Given the description of an element on the screen output the (x, y) to click on. 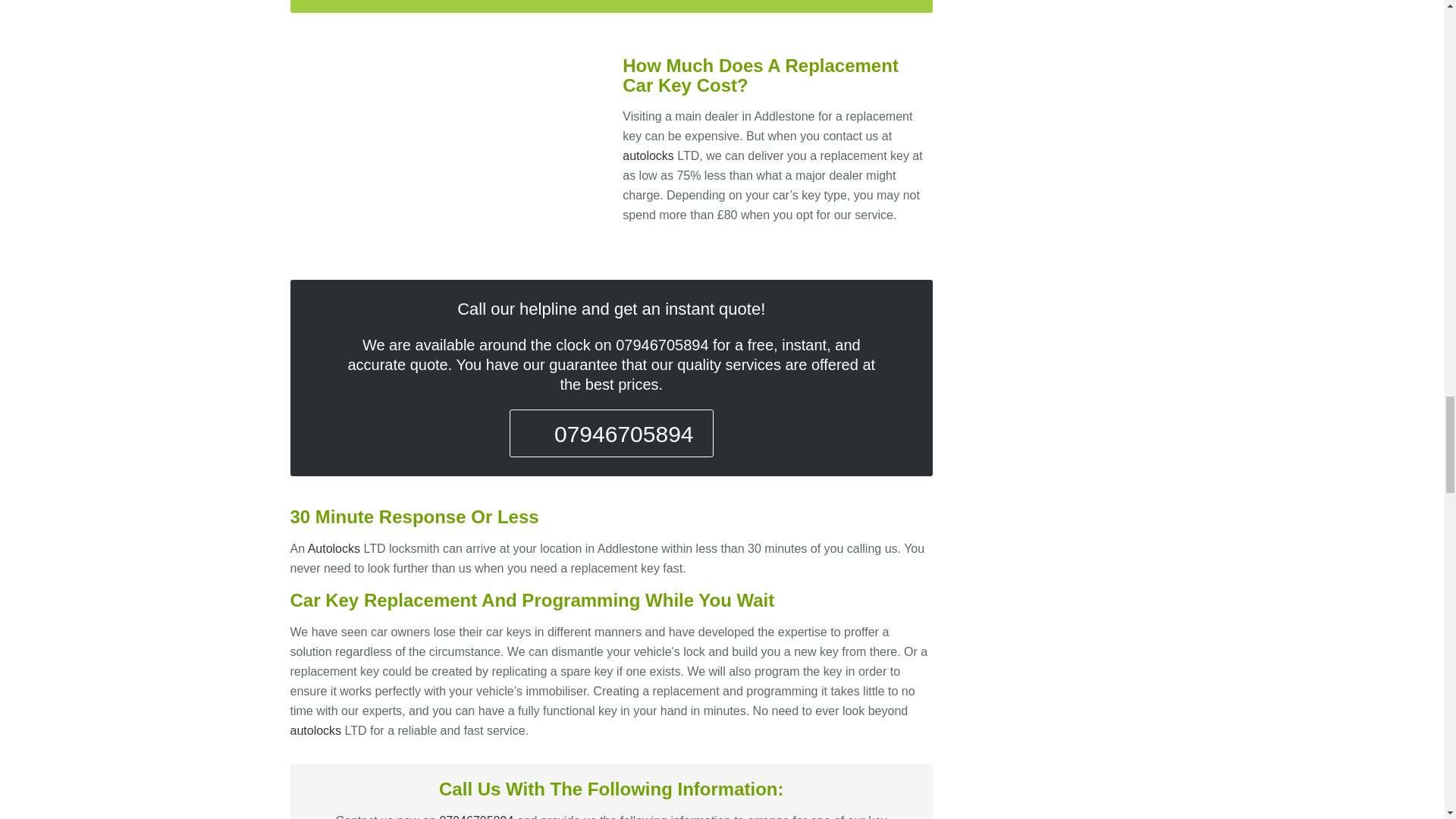
autolocks (333, 548)
autolocks (648, 155)
autolocks (314, 730)
